Given the description of an element on the screen output the (x, y) to click on. 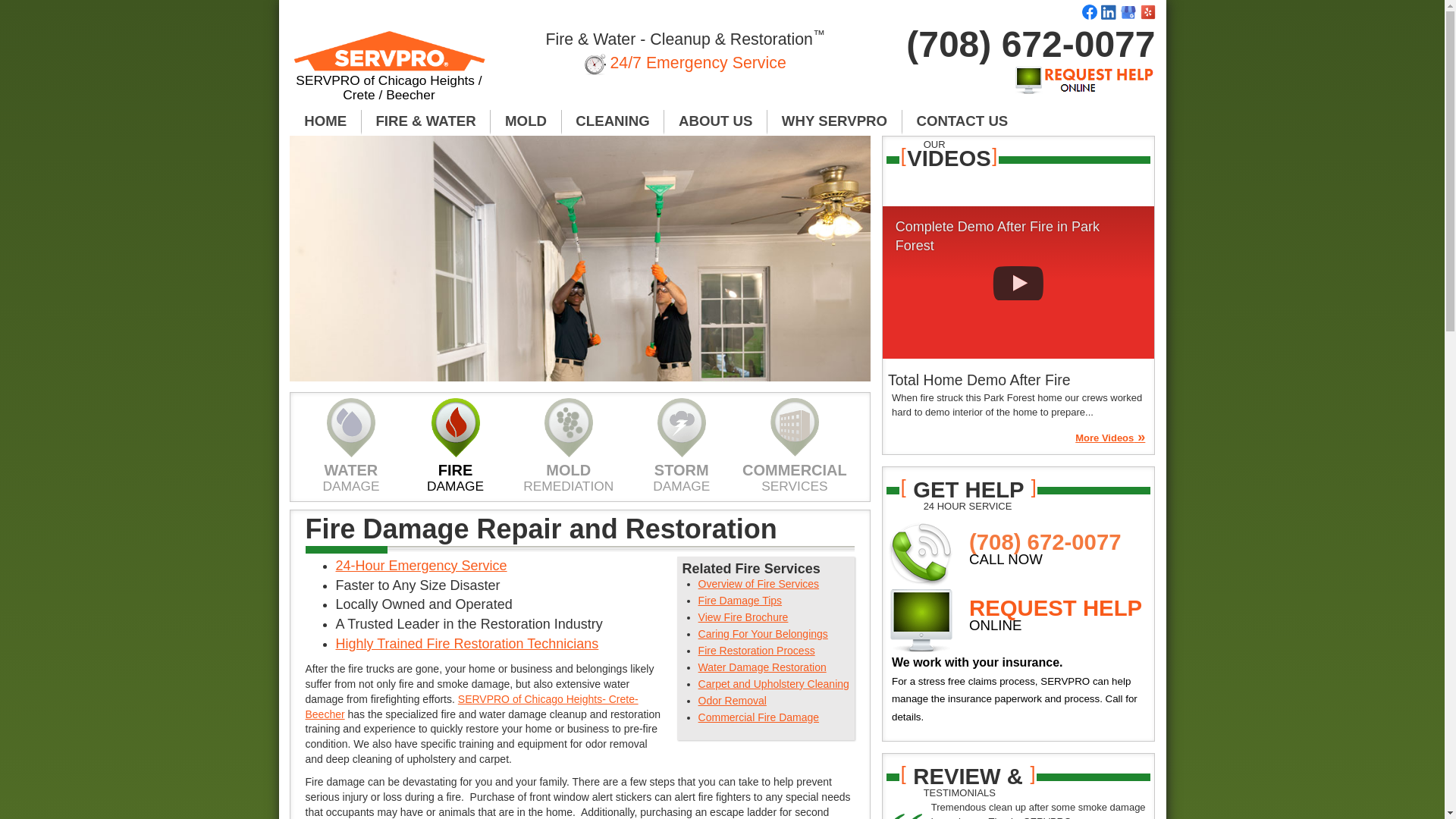
HOME (325, 121)
MOLD (525, 121)
CLEANING (613, 121)
ABOUT US (715, 121)
